Given the description of an element on the screen output the (x, y) to click on. 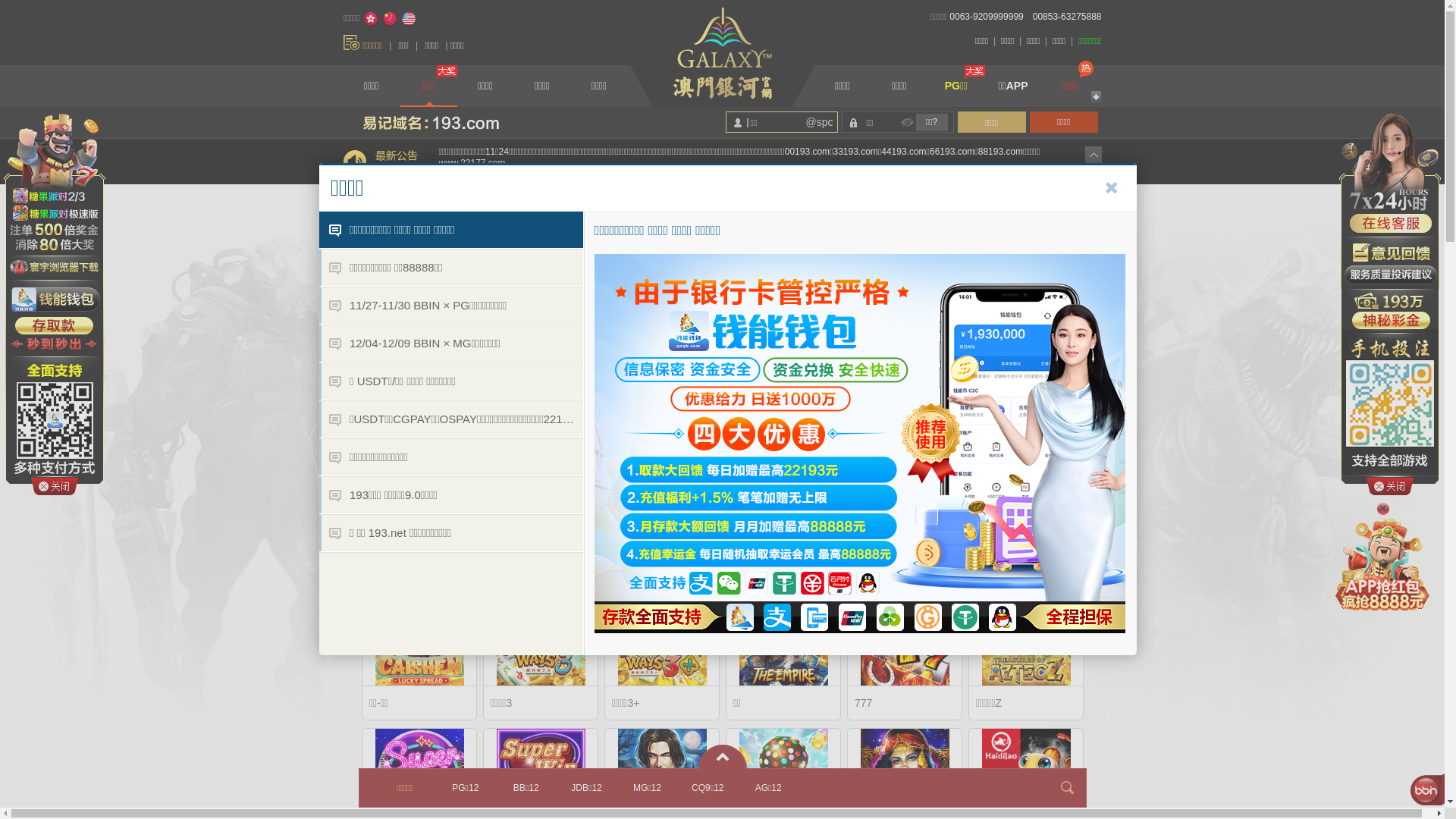
English Element type: hover (408, 18)
